Given the description of an element on the screen output the (x, y) to click on. 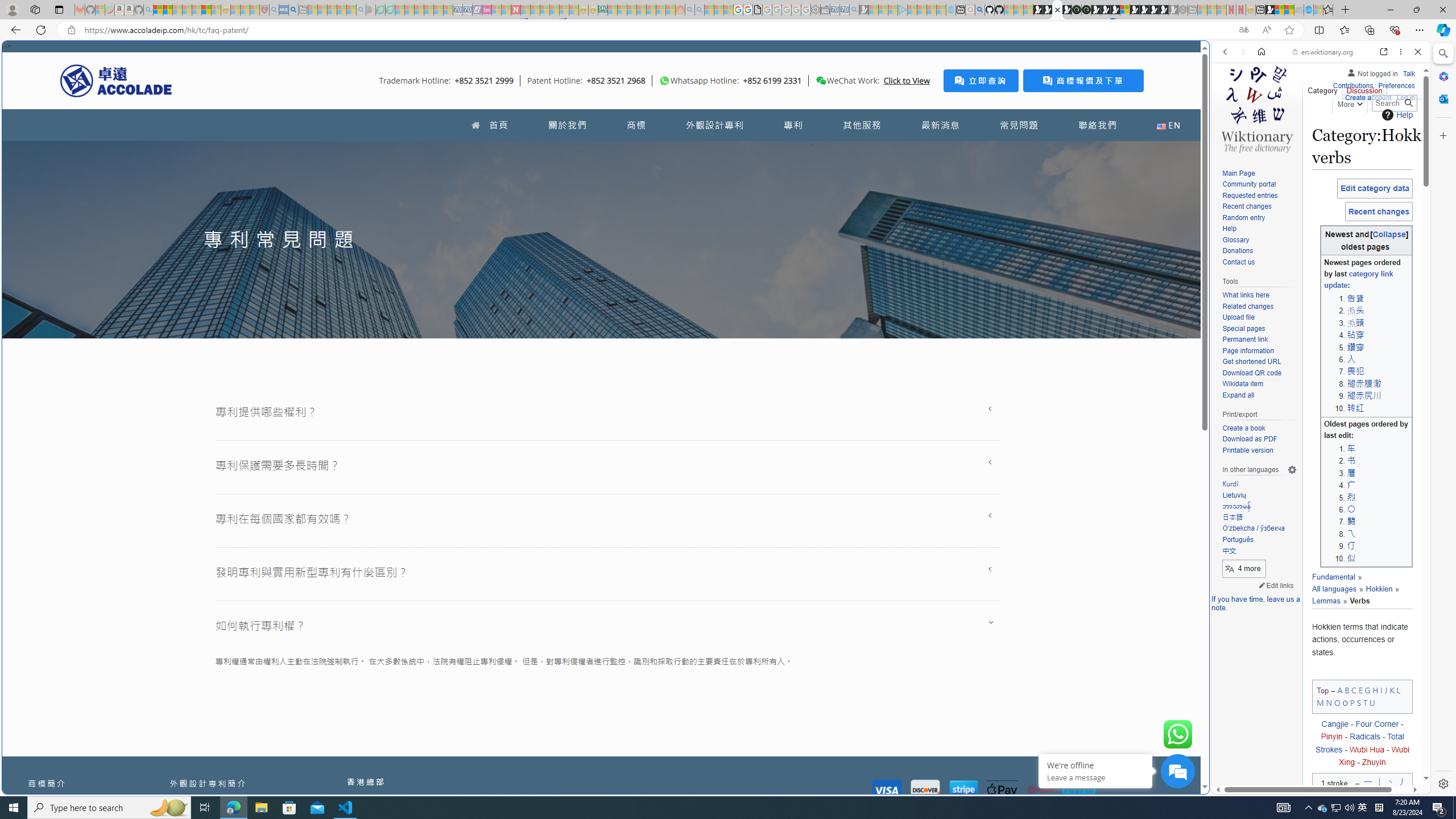
All languages (1333, 588)
Create a book (1243, 427)
U (1372, 701)
Donations (1237, 250)
